Given the description of an element on the screen output the (x, y) to click on. 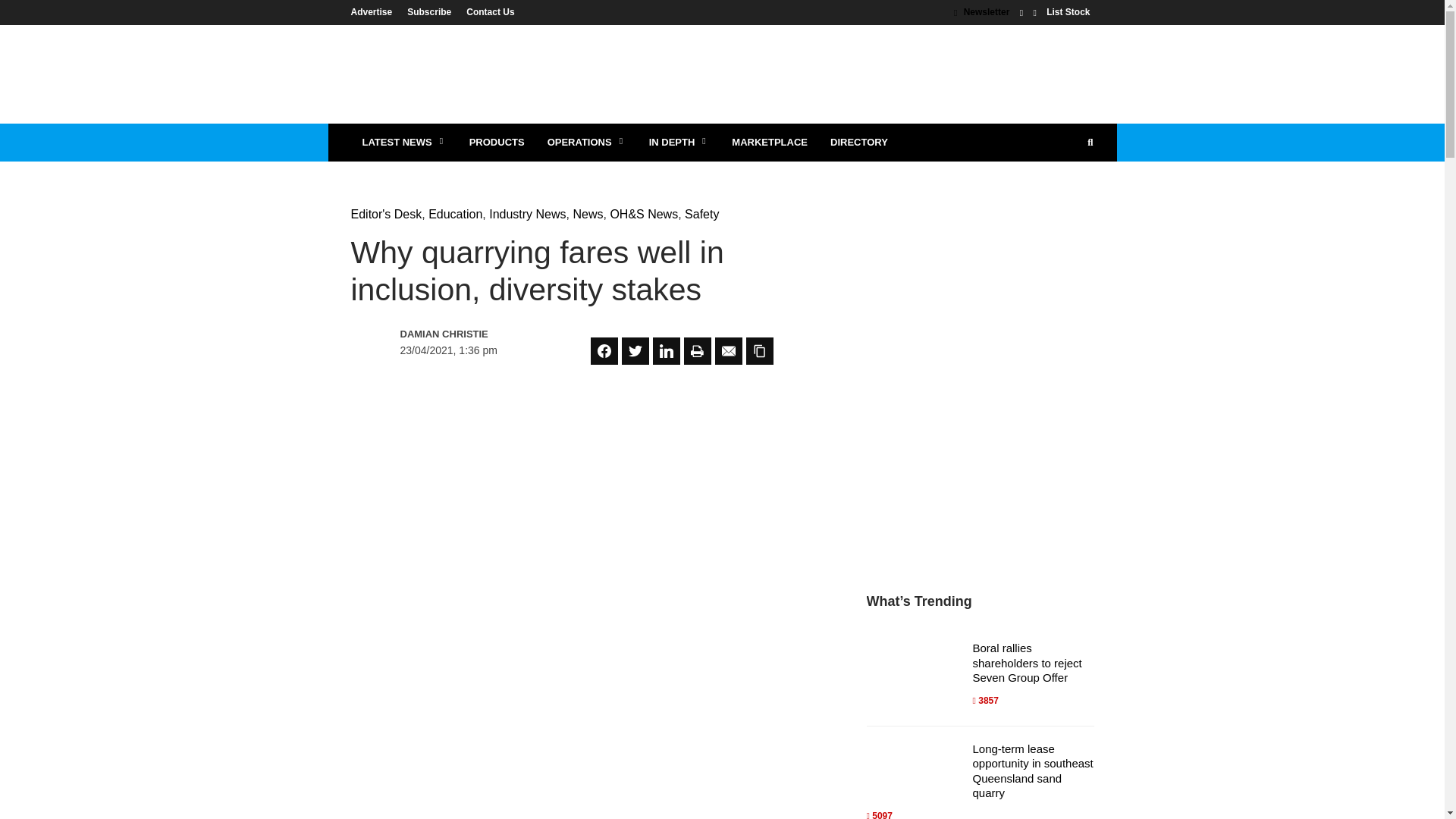
Share on Email (728, 350)
MARKETPLACE (769, 142)
LATEST NEWS (403, 142)
Share on Facebook (604, 350)
View Boral rallies shareholders to reject Seven Group Offer (1026, 662)
Share on LinkedIn (665, 350)
PRODUCTS (496, 142)
Contact Us (485, 11)
Share on Print (697, 350)
Industry News (527, 214)
